Given the description of an element on the screen output the (x, y) to click on. 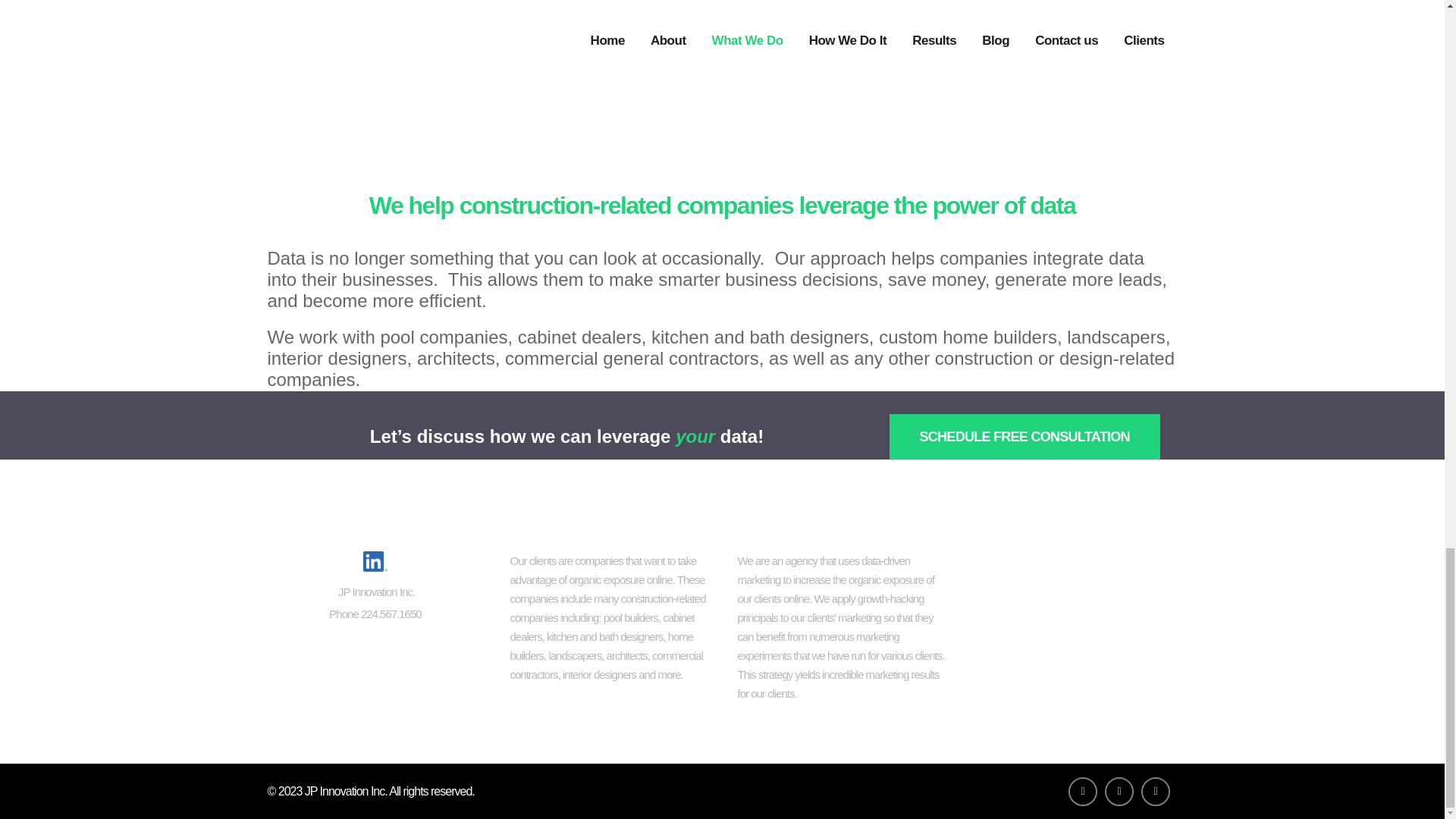
SEO for Contractors (1069, 563)
Outrank Your Competitors (1069, 664)
SCHEDULE FREE CONSULTATION (1023, 436)
